Given the description of an element on the screen output the (x, y) to click on. 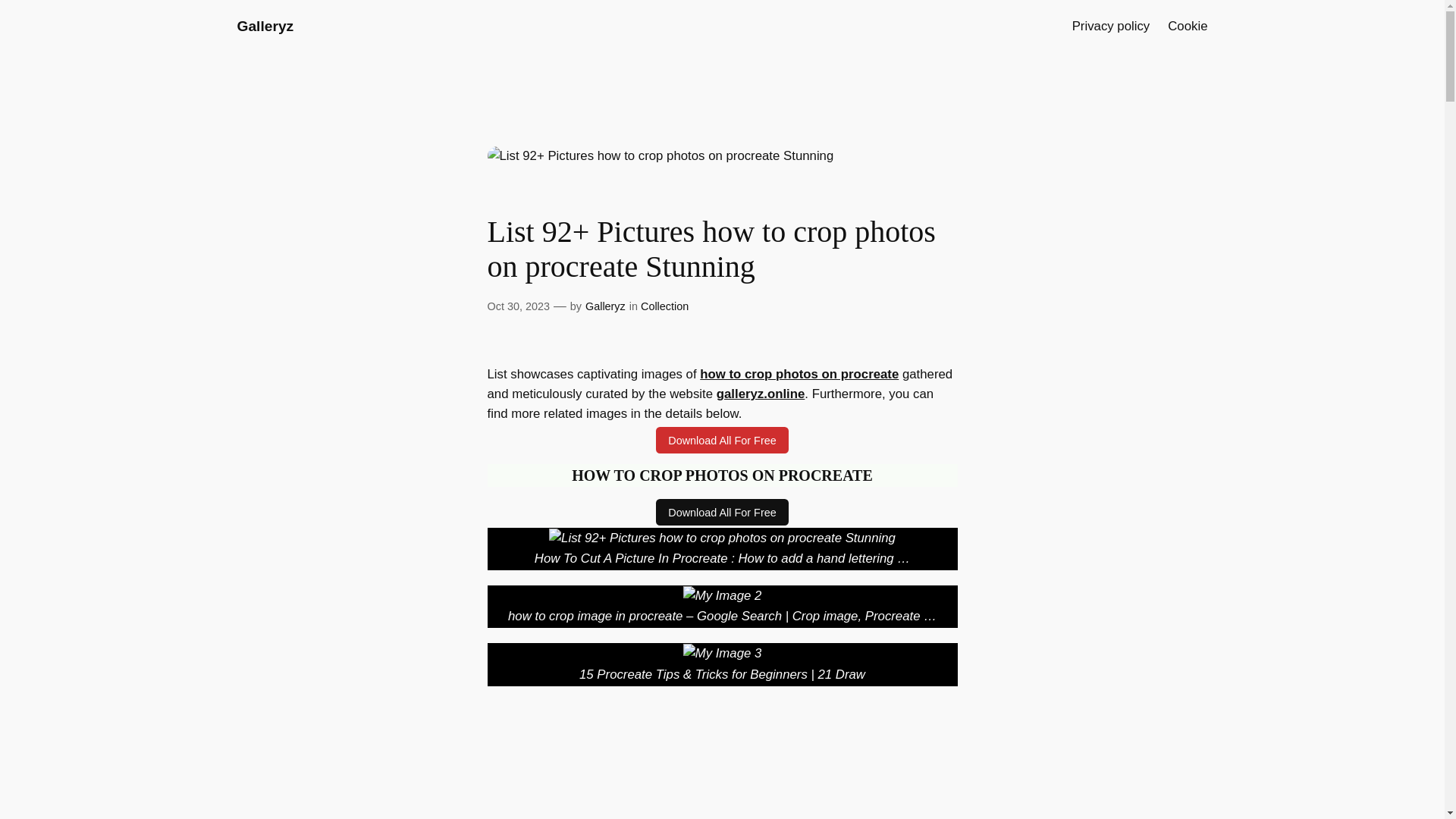
Cookie (1187, 26)
how to crop photos on procreate (799, 373)
Download All For Free (721, 511)
galleryz.online (760, 393)
Oct 30, 2023 (517, 306)
Collection (664, 306)
YouTube video player (789, 760)
Download All For Free (721, 438)
Privacy policy (1110, 26)
Galleryz (264, 26)
